Given the description of an element on the screen output the (x, y) to click on. 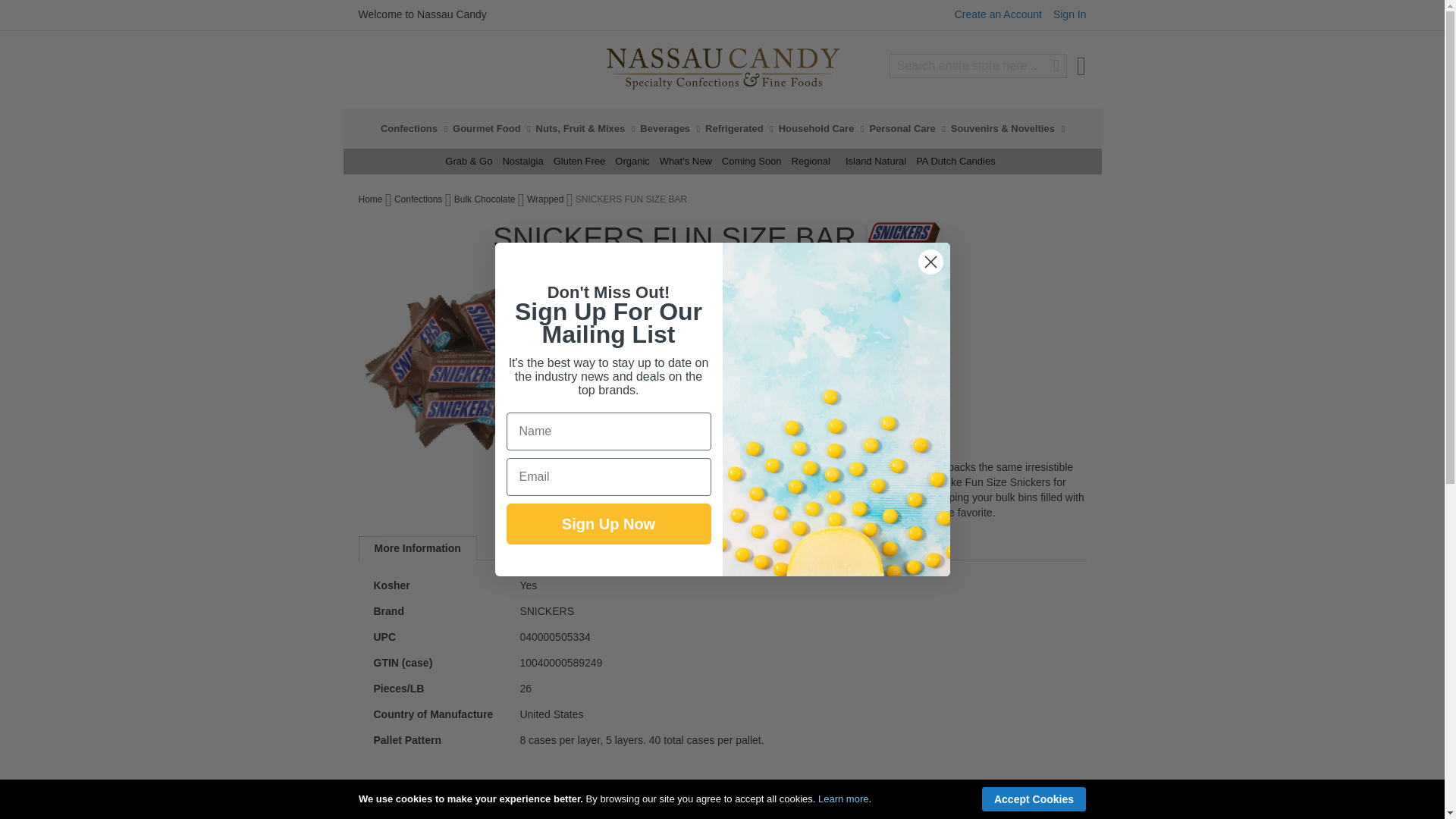
Accept Cookies (1033, 799)
Gourmet Food (490, 128)
Sign In (1069, 14)
Go to Home Page (371, 199)
Learn more (842, 798)
Confections (413, 128)
Create an Account (998, 14)
